Given the description of an element on the screen output the (x, y) to click on. 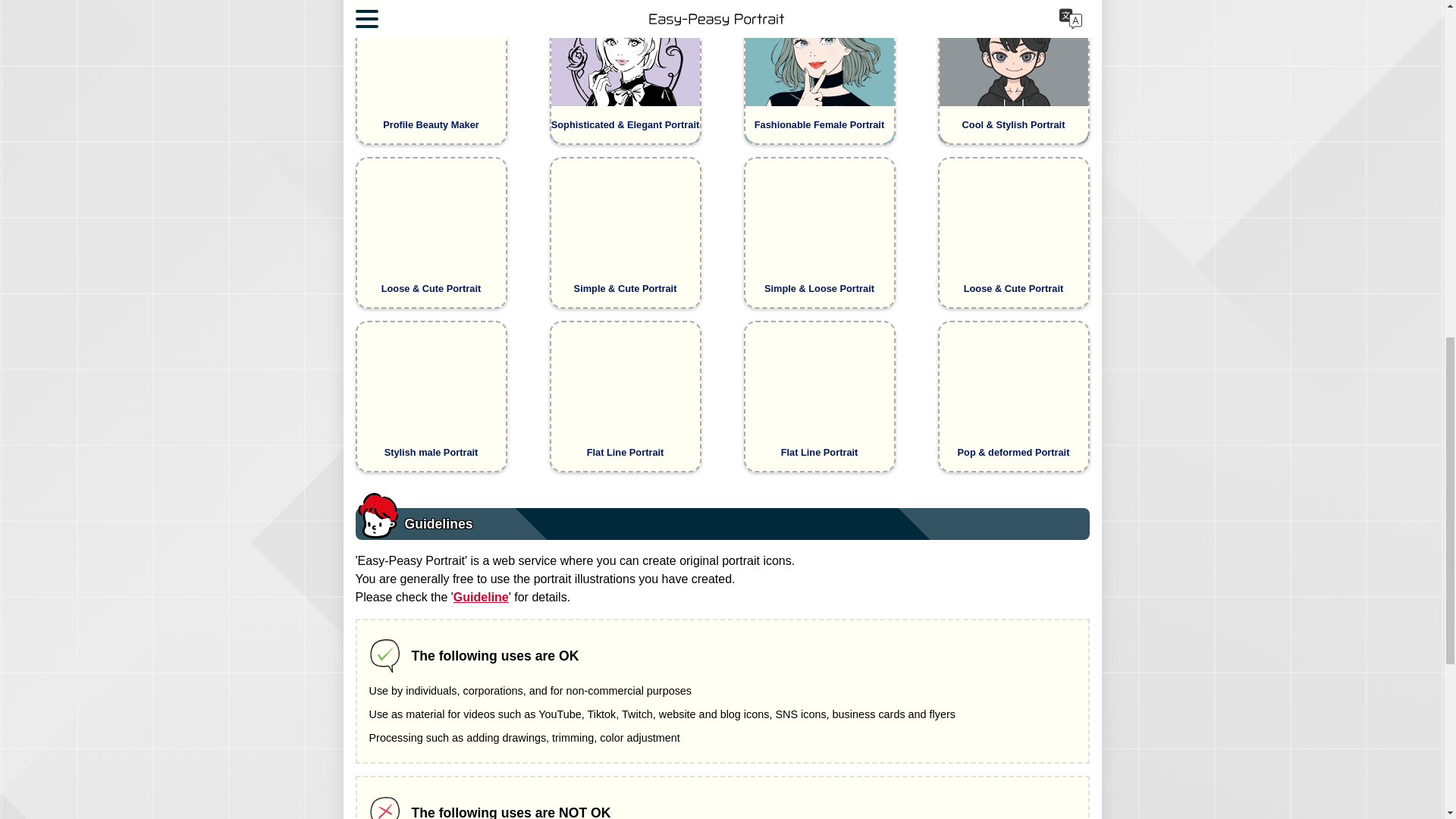
Stylish male Portrait (430, 396)
Guideline (480, 596)
Flat Line Portrait (818, 396)
Fashionable Female Portrait (818, 72)
Profile Beauty Maker (430, 72)
Flat Line Portrait (624, 396)
